Given the description of an element on the screen output the (x, y) to click on. 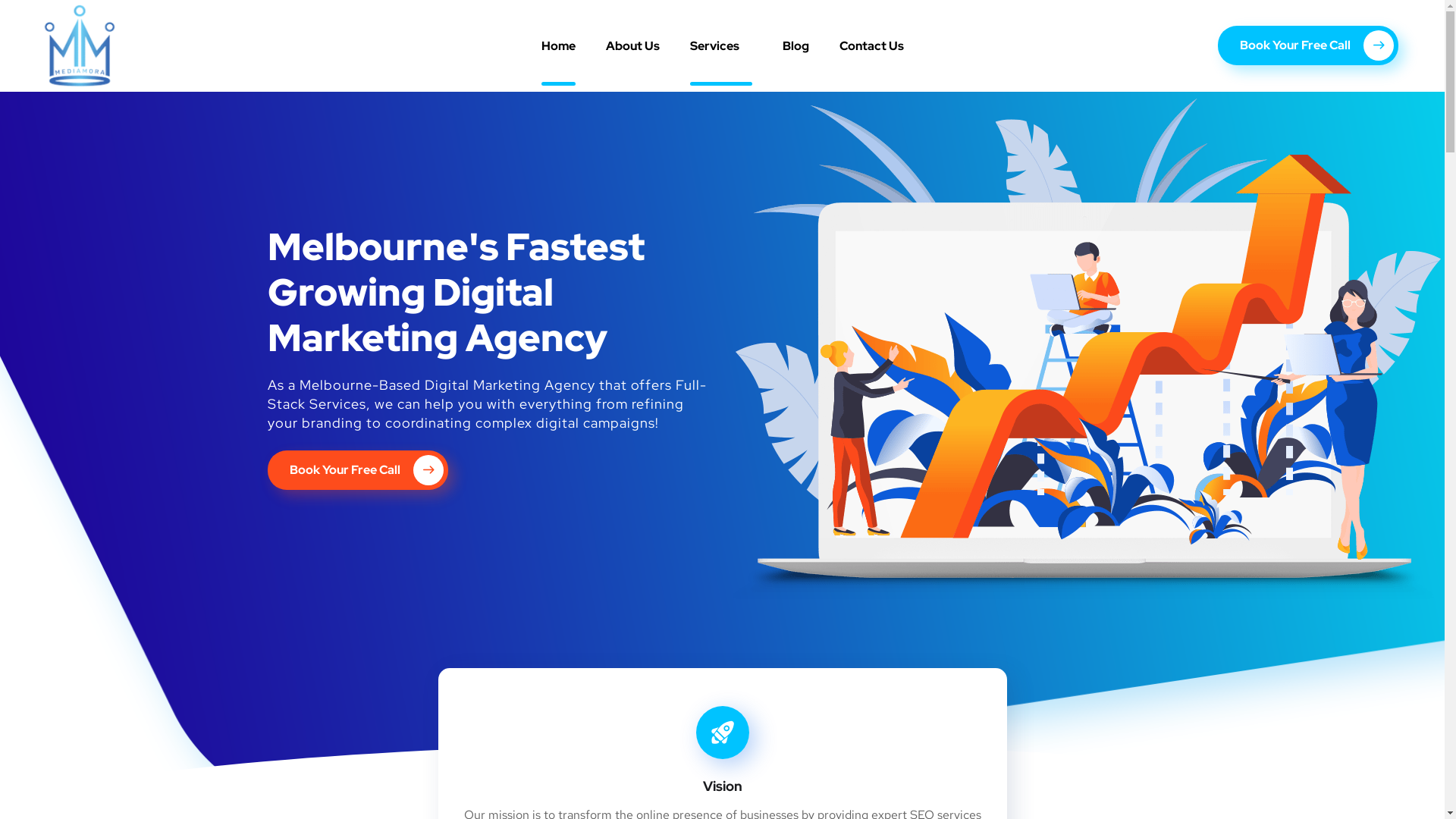
Services Element type: text (721, 45)
About Us Element type: text (631, 45)
Contact Us Element type: text (870, 45)
Blog Element type: text (795, 45)
Home Element type: text (558, 45)
Book Your Free Call Element type: text (1307, 45)
Book Your Free Call Element type: text (356, 469)
